Given the description of an element on the screen output the (x, y) to click on. 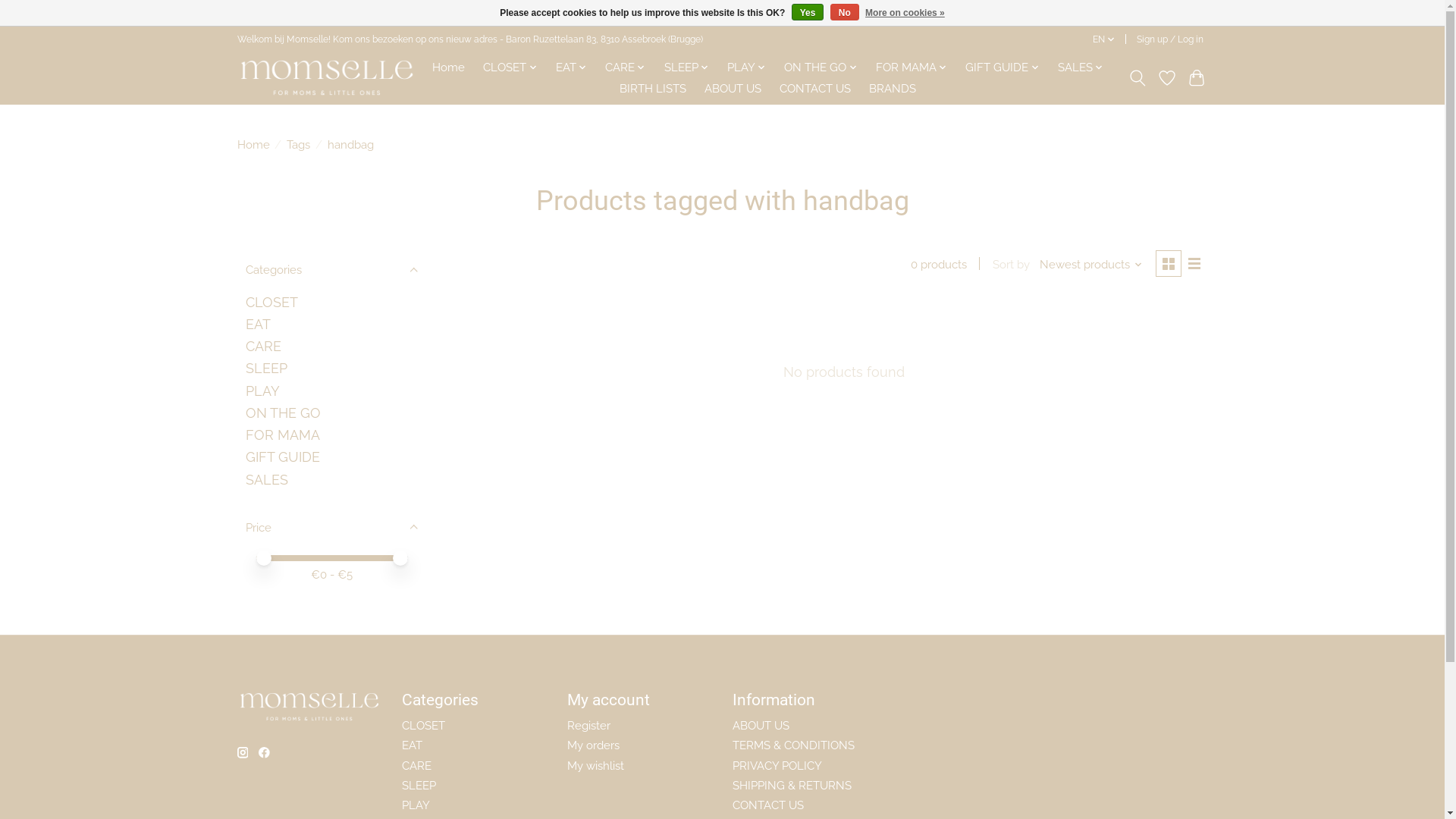
SLEEP Element type: text (266, 368)
ON THE GO Element type: text (282, 412)
Register Element type: text (588, 724)
BIRTH LISTS Element type: text (652, 88)
My orders Element type: text (593, 744)
PLAY Element type: text (415, 804)
SLEEP Element type: text (418, 784)
Home Element type: text (252, 144)
EAT Element type: text (411, 744)
Home Element type: text (448, 67)
Yes Element type: text (807, 11)
CARE Element type: text (625, 67)
Price Element type: text (331, 527)
Tags Element type: text (298, 144)
FOR MAMA Element type: text (282, 434)
FOR MAMA Element type: text (911, 67)
Newest products Element type: text (1090, 263)
CLOSET Element type: text (271, 302)
ABOUT US Element type: text (732, 88)
CLOSET Element type: text (509, 67)
My wishlist Element type: text (595, 765)
EAT Element type: text (570, 67)
PLAY Element type: text (262, 390)
BRANDS Element type: text (892, 88)
GIFT GUIDE Element type: text (1002, 67)
CARE Element type: text (416, 765)
EN Element type: text (1103, 39)
CARE Element type: text (263, 346)
EAT Element type: text (257, 324)
SALES Element type: text (1080, 67)
PRIVACY POLICY Element type: text (777, 765)
Sustainable essentials for mothers, baby's and kids Element type: hover (325, 77)
ON THE GO Element type: text (820, 67)
TERMS & CONDITIONS Element type: text (793, 744)
CONTACT US Element type: text (815, 88)
Sign up / Log in Element type: text (1169, 39)
PLAY Element type: text (746, 67)
CLOSET Element type: text (423, 724)
SALES Element type: text (266, 479)
Categories Element type: text (331, 269)
SLEEP Element type: text (686, 67)
CONTACT US Element type: text (767, 804)
ABOUT US Element type: text (760, 724)
SHIPPING & RETURNS Element type: text (791, 784)
GIFT GUIDE Element type: text (282, 456)
No Element type: text (844, 11)
